Given the description of an element on the screen output the (x, y) to click on. 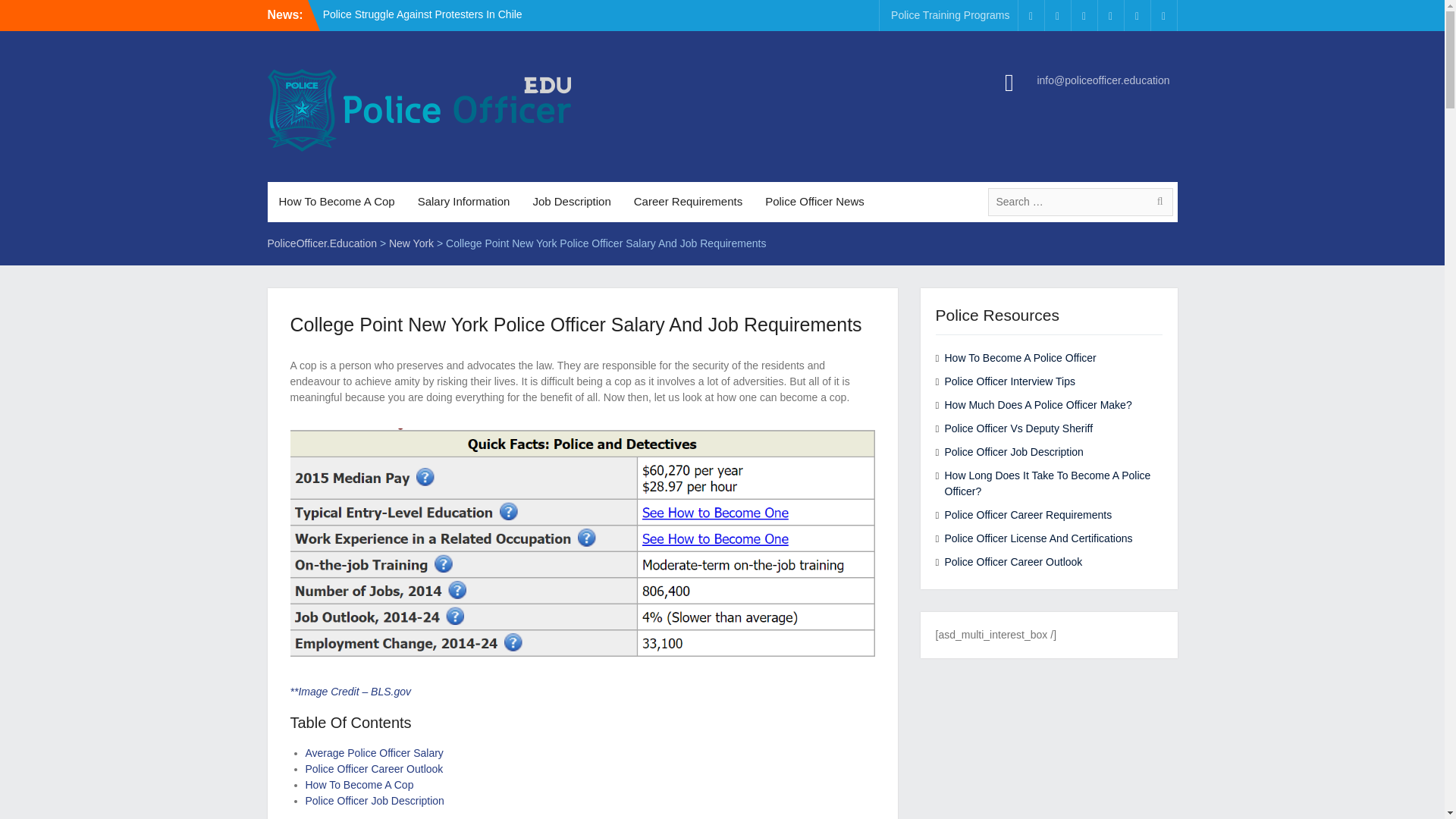
Average Police Officer Salary (373, 752)
Go to PoliceOfficer.Education. (321, 242)
Police Struggle Against Protesters In Chile (422, 14)
How To Become A Cop (336, 201)
Police Training Programs (949, 15)
Career Requirements (688, 201)
PoliceOfficer.Education (321, 242)
Police Officer Job Description (374, 800)
Job Description (571, 201)
How To Become A Cop (358, 784)
New York (410, 242)
Go to the New York State Career archives. (410, 242)
Police Officer Career Outlook (373, 768)
Salary Information (463, 201)
Police Officer News (815, 201)
